Given the description of an element on the screen output the (x, y) to click on. 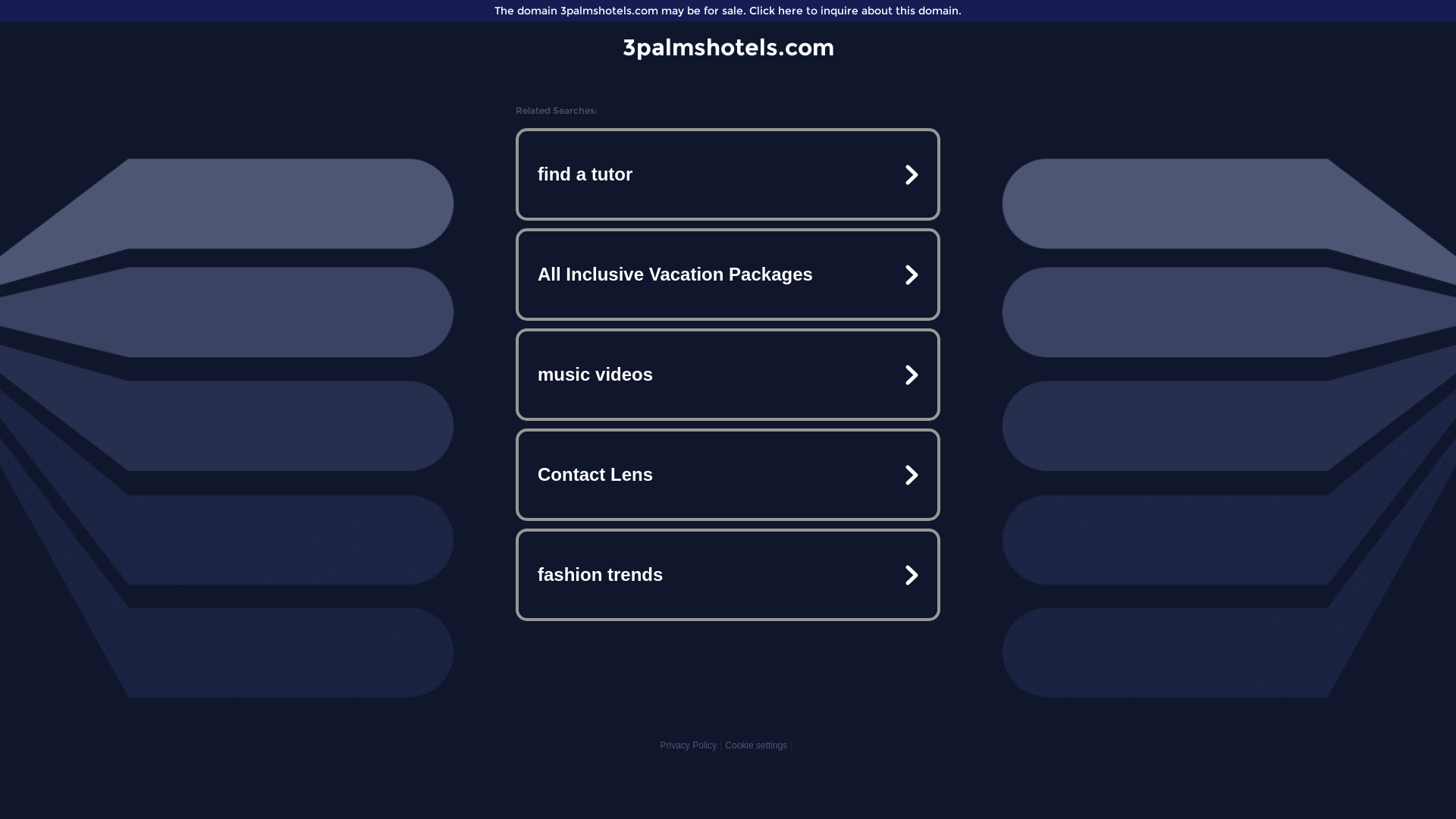
music videos Element type: text (727, 374)
find a tutor Element type: text (727, 174)
Cookie settings Element type: text (755, 745)
fashion trends Element type: text (727, 574)
3palmshotels.com Element type: text (727, 47)
Privacy Policy Element type: text (687, 745)
All Inclusive Vacation Packages Element type: text (727, 274)
Contact Lens Element type: text (727, 474)
